Given the description of an element on the screen output the (x, y) to click on. 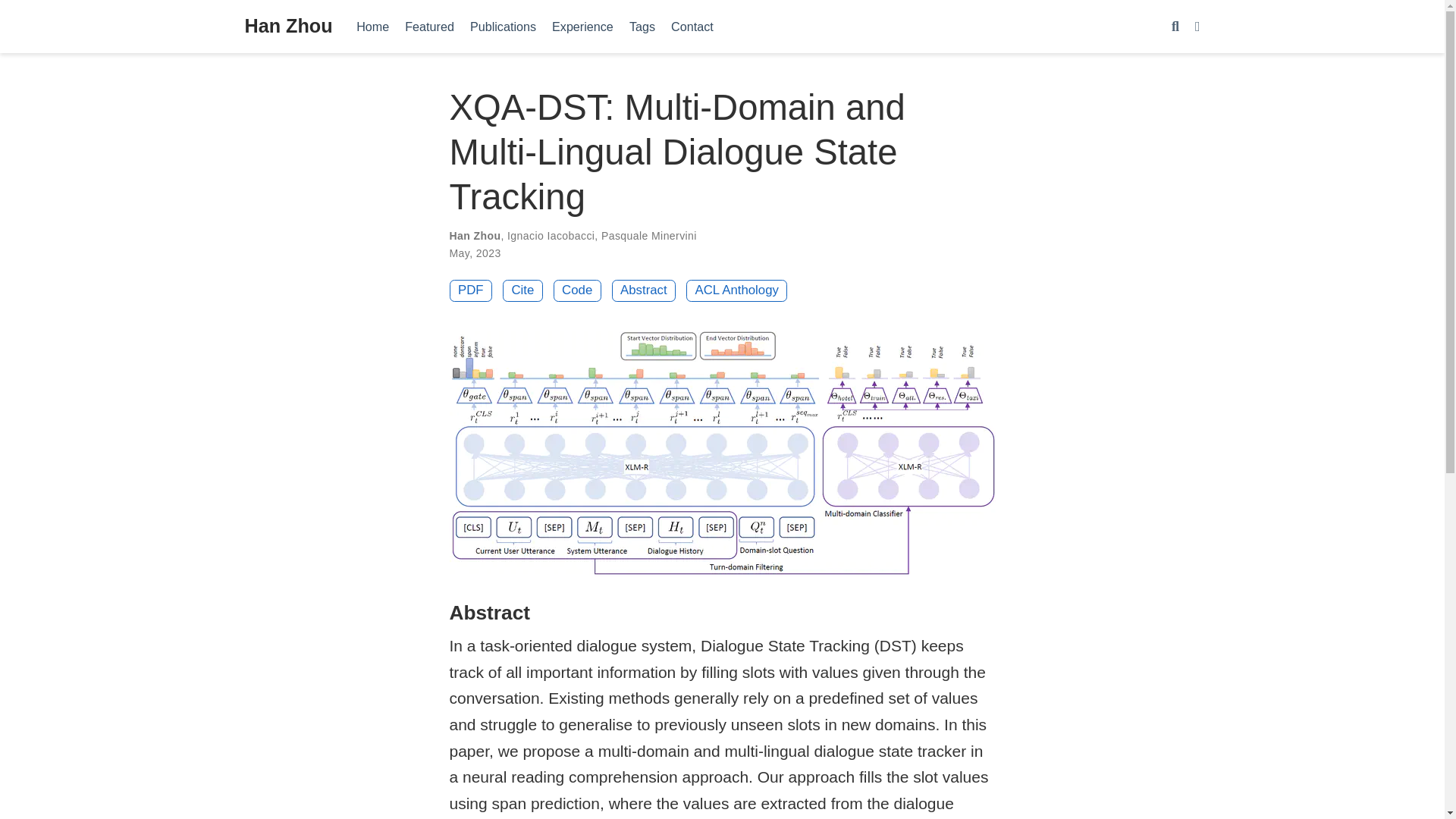
Featured (430, 25)
PDF (470, 291)
Publications (502, 25)
Experience (582, 25)
Code (577, 291)
Cite (522, 291)
Contact (692, 25)
ACL Anthology (736, 291)
Home (373, 25)
Abstract (644, 291)
Tags (641, 25)
Han Zhou (287, 26)
